Given the description of an element on the screen output the (x, y) to click on. 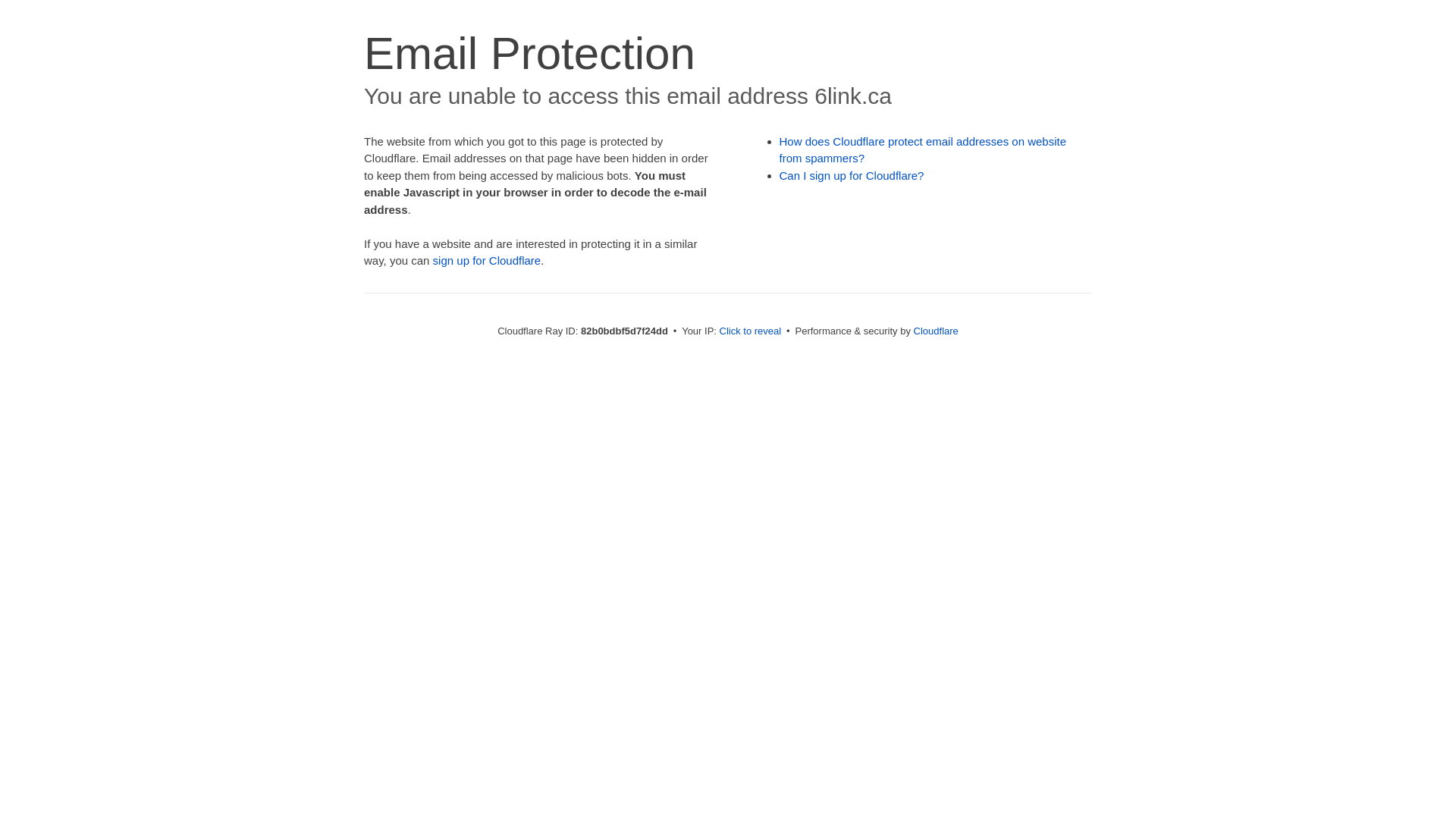
Can I sign up for Cloudflare? Element type: text (851, 175)
sign up for Cloudflare Element type: text (487, 260)
Cloudflare Element type: text (935, 330)
Click to reveal Element type: text (750, 330)
